Given the description of an element on the screen output the (x, y) to click on. 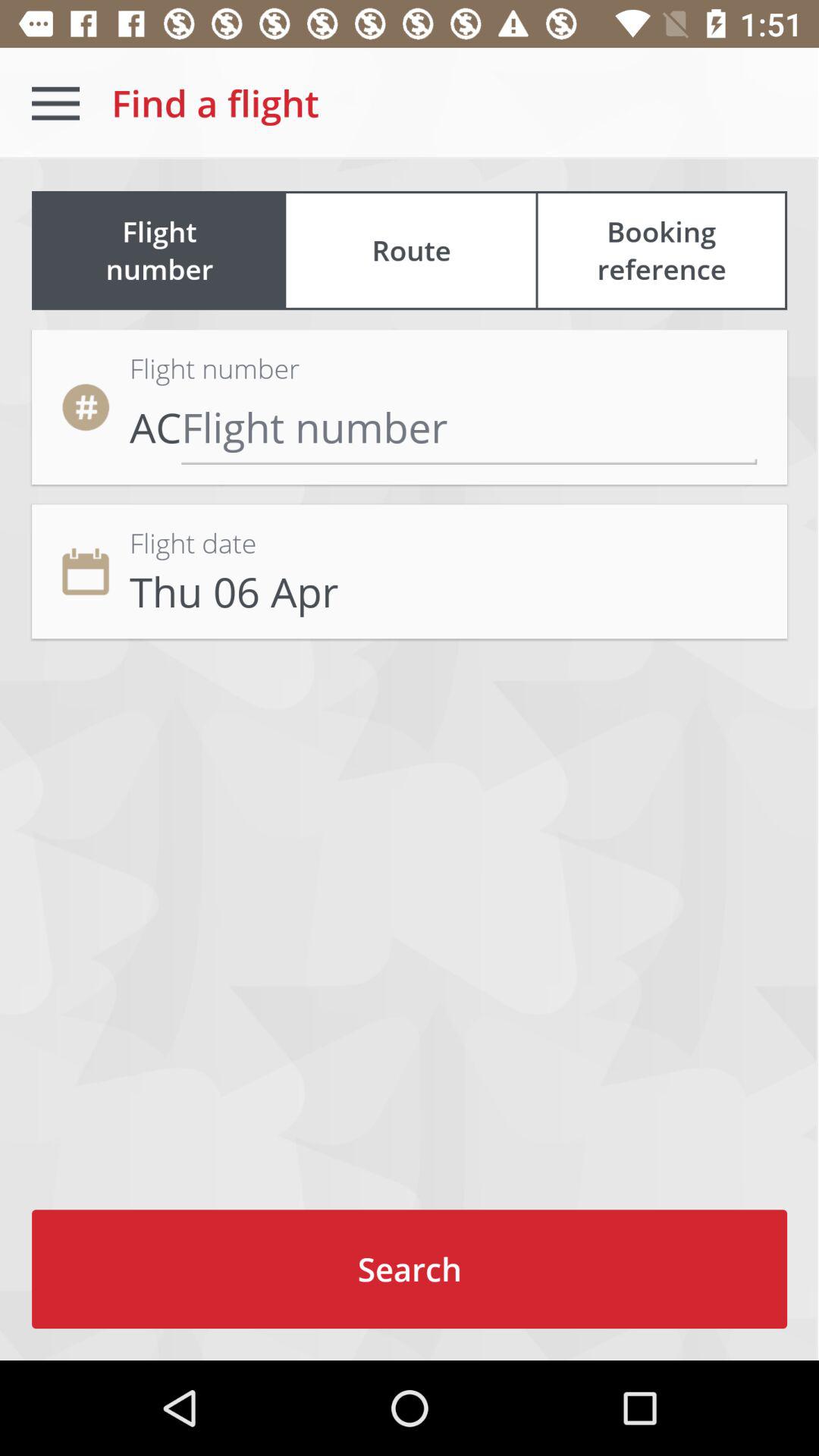
enter flight number (469, 426)
